Given the description of an element on the screen output the (x, y) to click on. 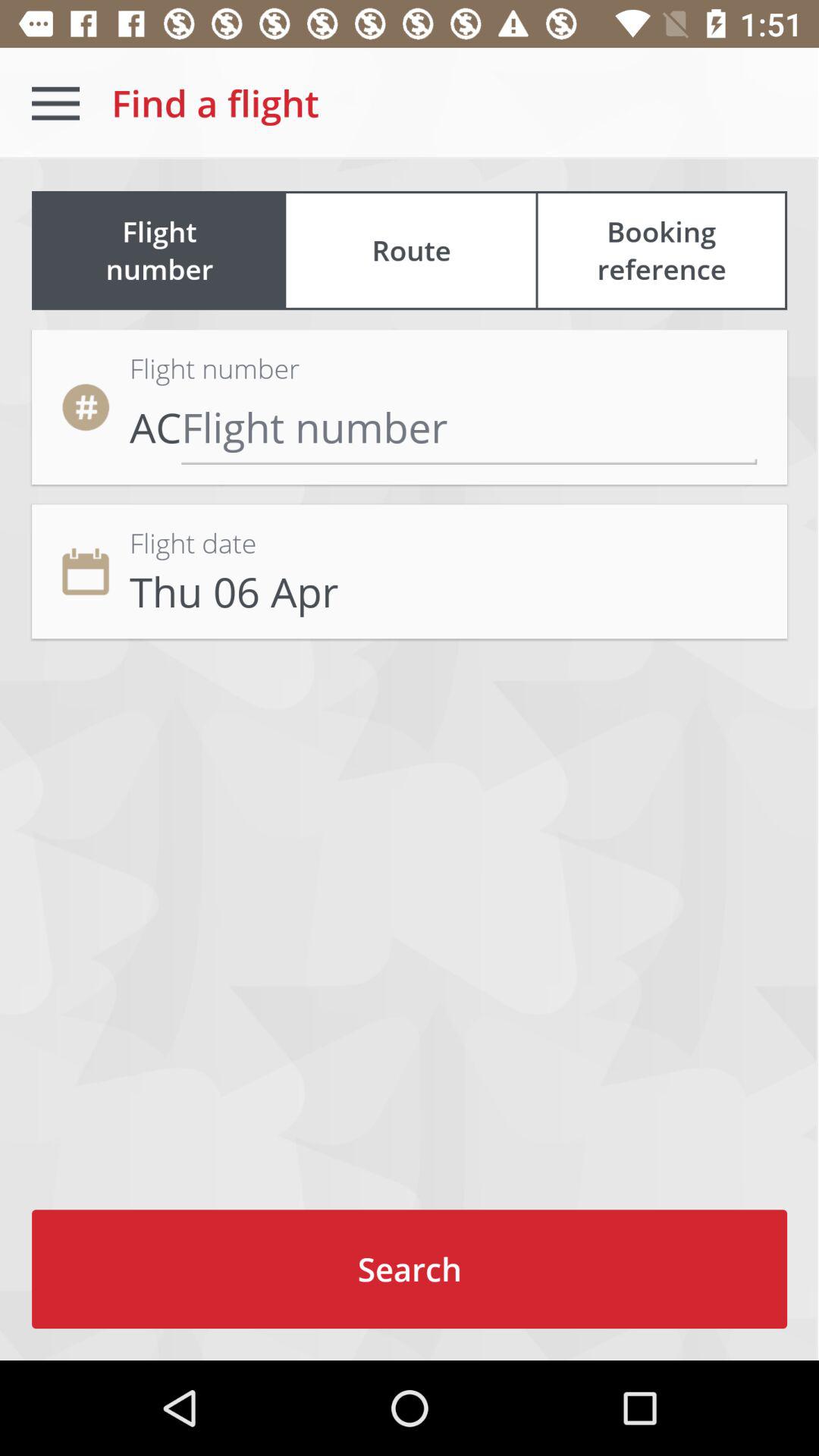
enter flight number (469, 426)
